Given the description of an element on the screen output the (x, y) to click on. 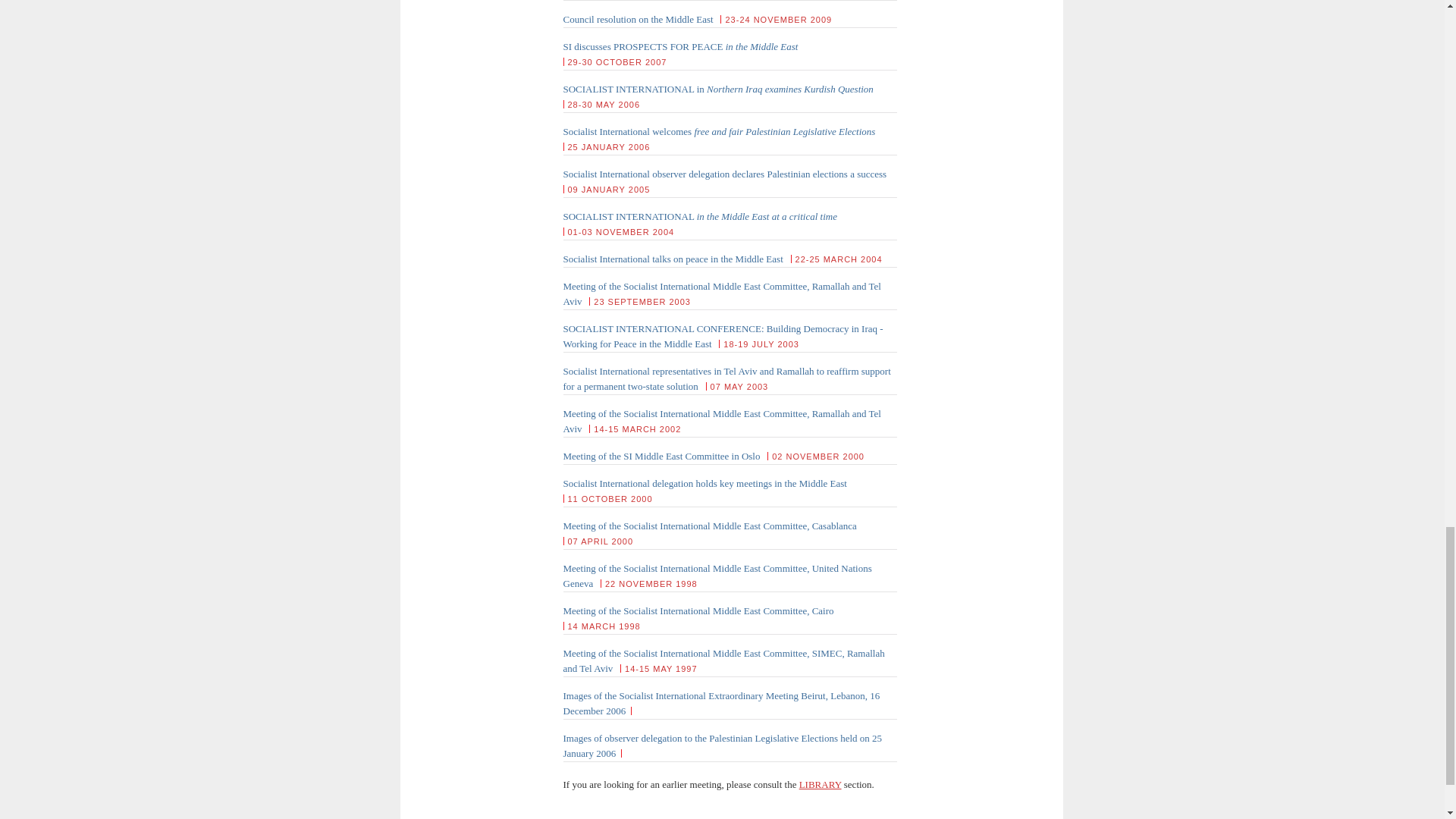
Council resolution on the Middle East (637, 19)
SI discusses PROSPECTS FOR PEACE in the Middle East (679, 46)
Socialist International talks on peace in the Middle East (672, 258)
